Given the description of an element on the screen output the (x, y) to click on. 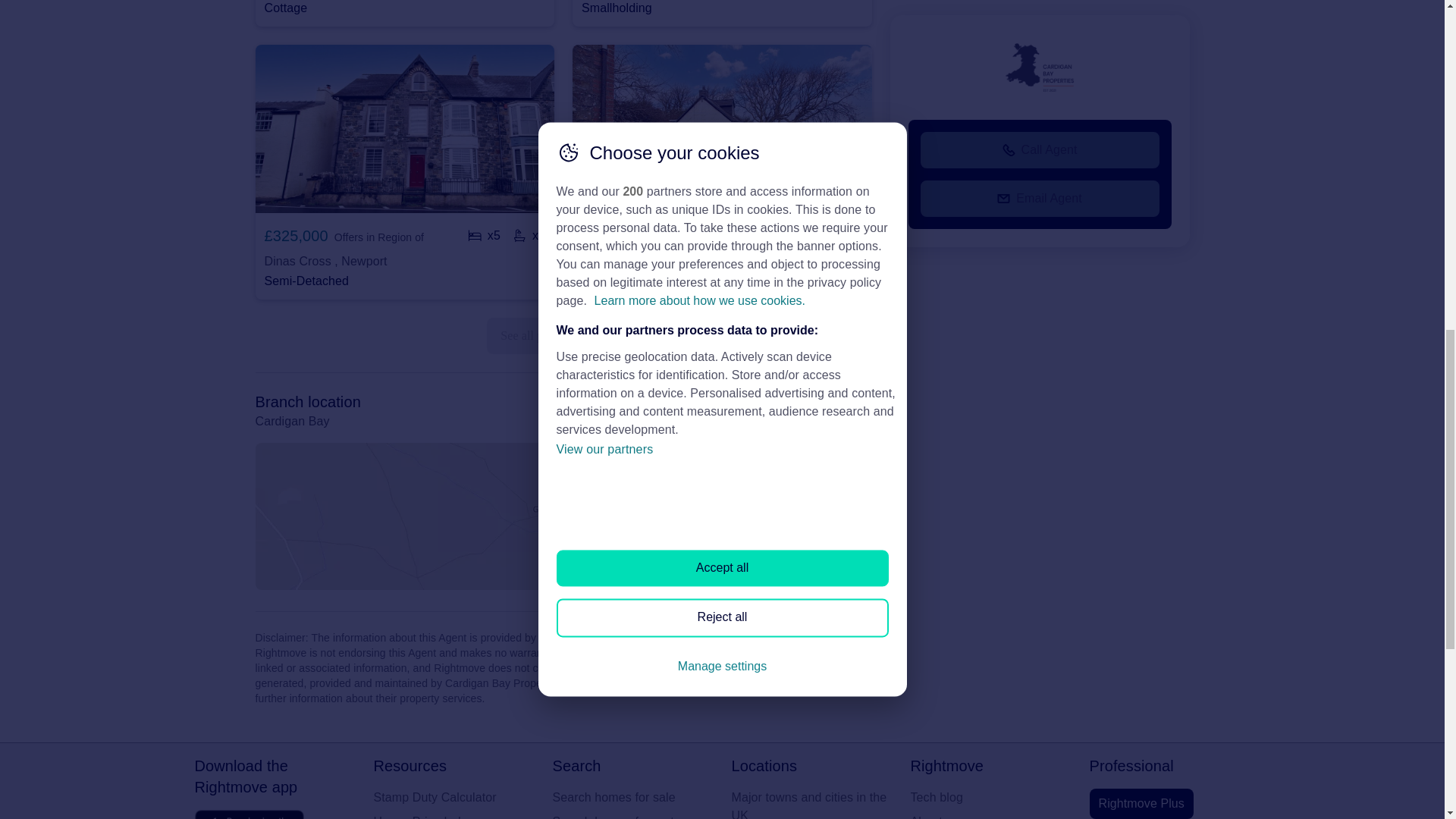
Search homes for sale (632, 797)
Search homes for rent (632, 816)
Stamp duty calculator (453, 797)
House price index (453, 816)
